Given the description of an element on the screen output the (x, y) to click on. 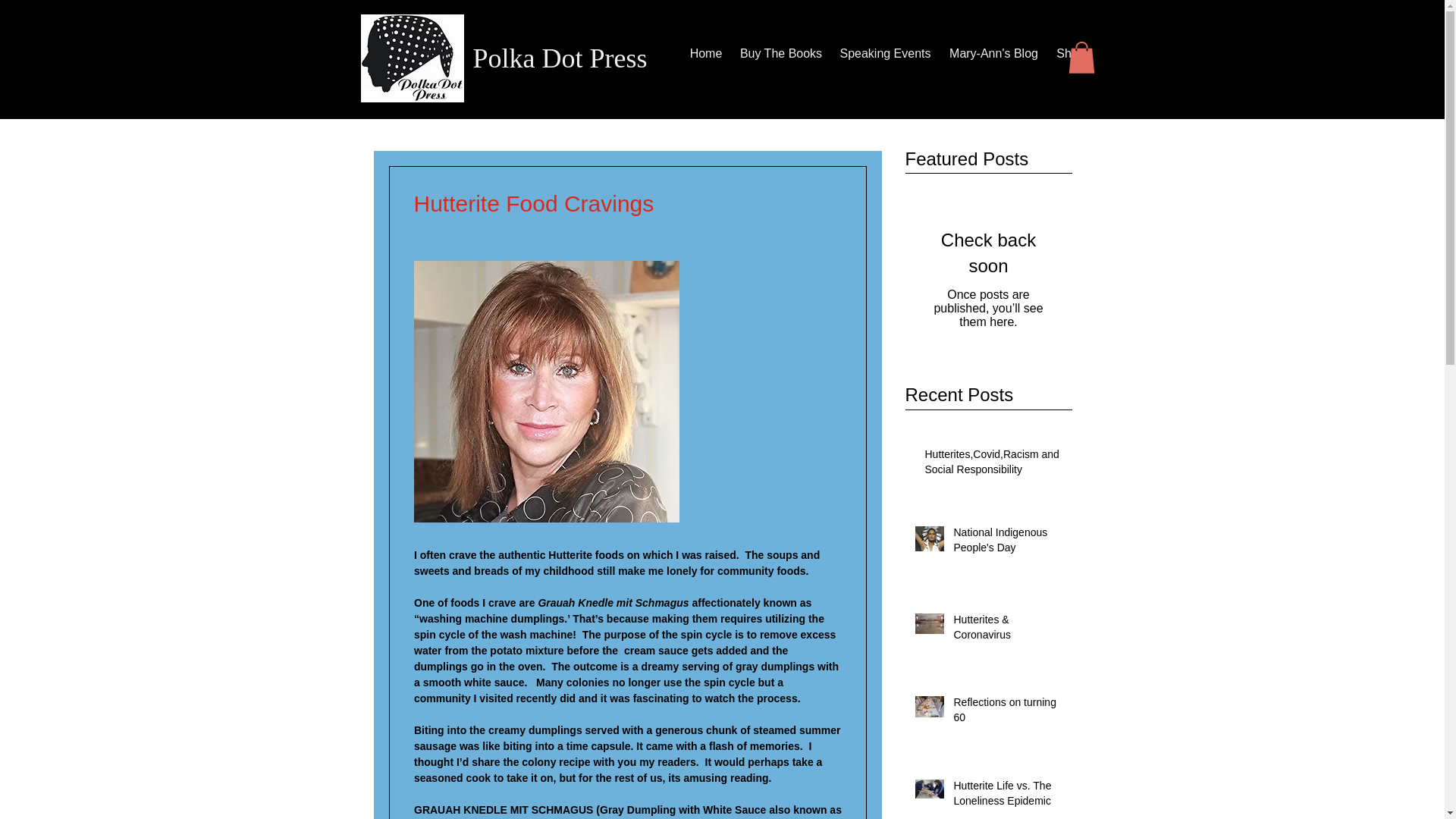
Polka Dot Press (560, 58)
Reflections on turning 60 (1007, 713)
Speaking Events (885, 53)
Buy The Books (779, 53)
National Indigenous People's Day (1007, 543)
Mary-Ann's Blog (994, 53)
Hutterites,Covid,Racism and Social Responsibility (993, 465)
Home (706, 53)
Hutterite Life vs. The Loneliness Epidemic (1007, 796)
Shop (1071, 53)
